Given the description of an element on the screen output the (x, y) to click on. 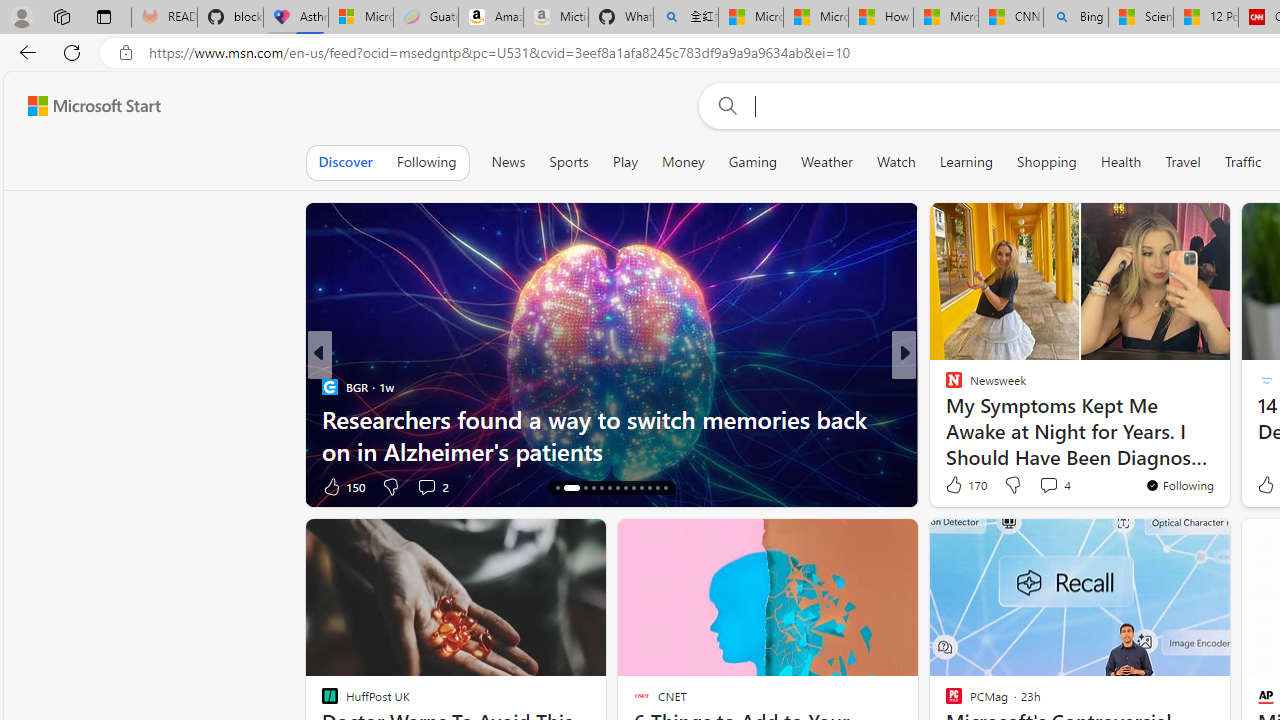
View comments 85 Comment (435, 486)
TODAY (944, 386)
View comments 11 Comment (1051, 486)
404 Like (959, 486)
Popular Mechanics (944, 386)
AutomationID: tab-20 (617, 487)
